Given the description of an element on the screen output the (x, y) to click on. 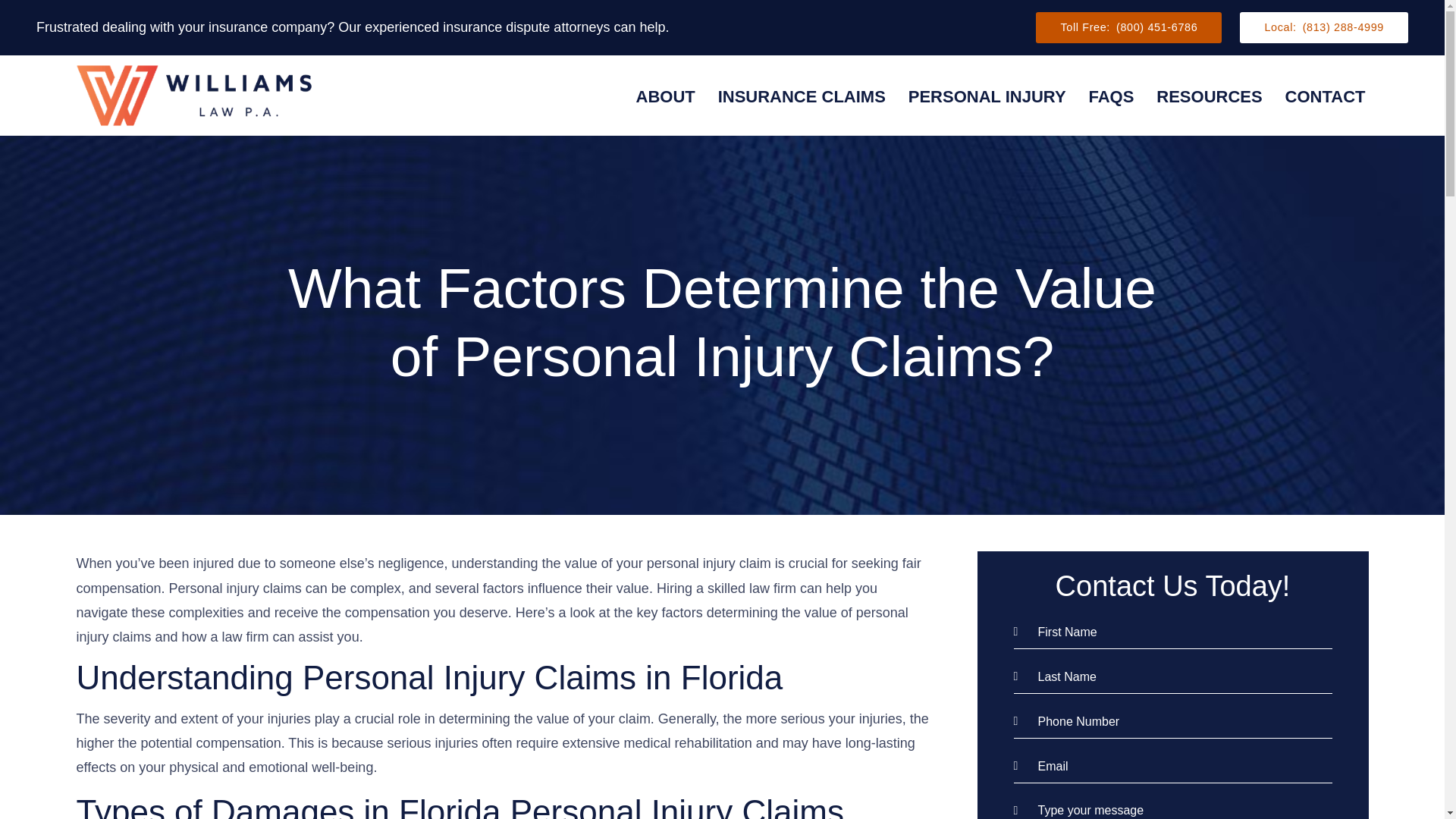
ABOUT (664, 87)
RESOURCES (1209, 98)
FAQS (1111, 98)
PERSONAL INJURY (986, 98)
INSURANCE CLAIMS (801, 96)
CONTACT (1325, 98)
